Given the description of an element on the screen output the (x, y) to click on. 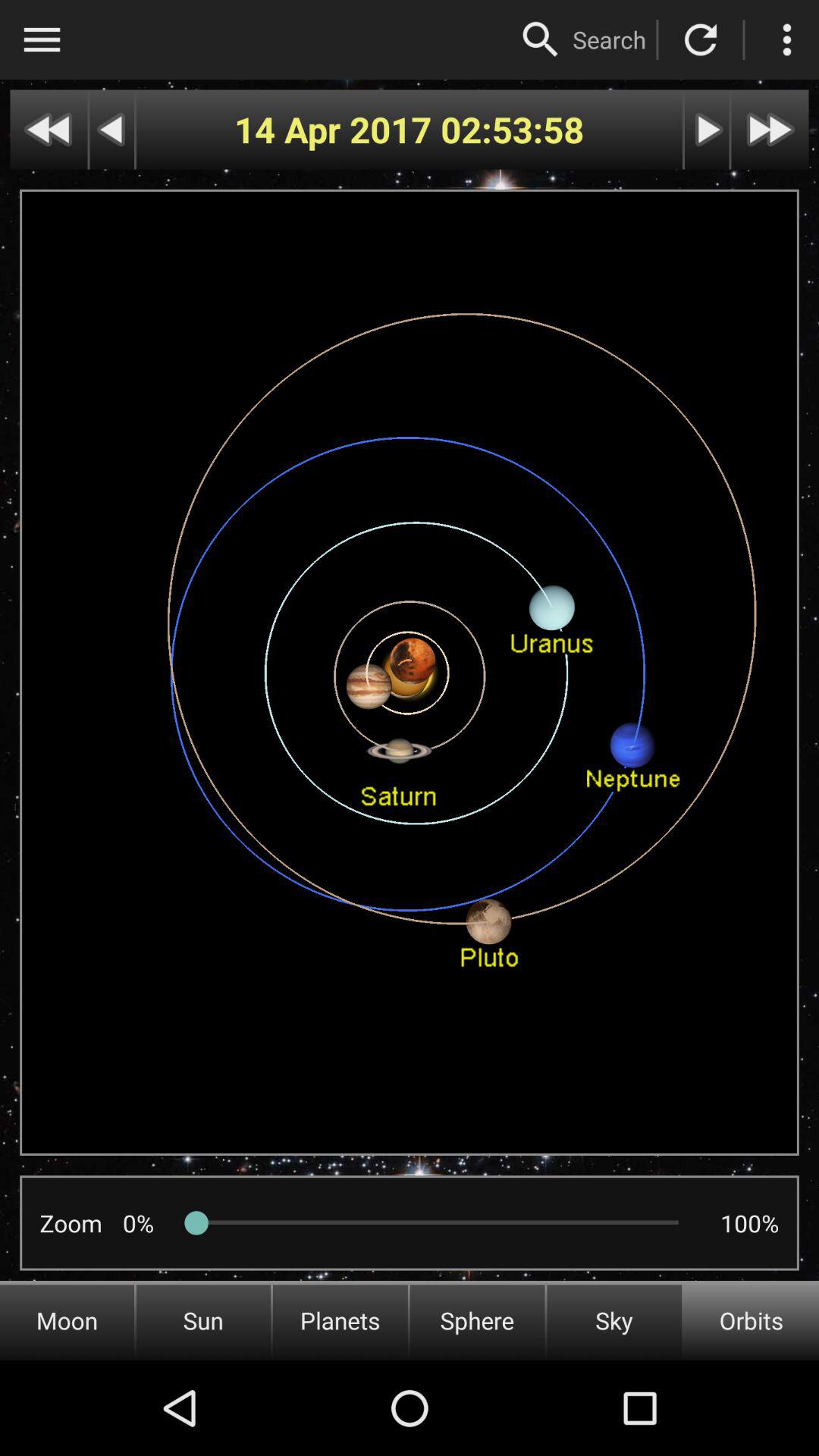
flip to the search icon (609, 39)
